Given the description of an element on the screen output the (x, y) to click on. 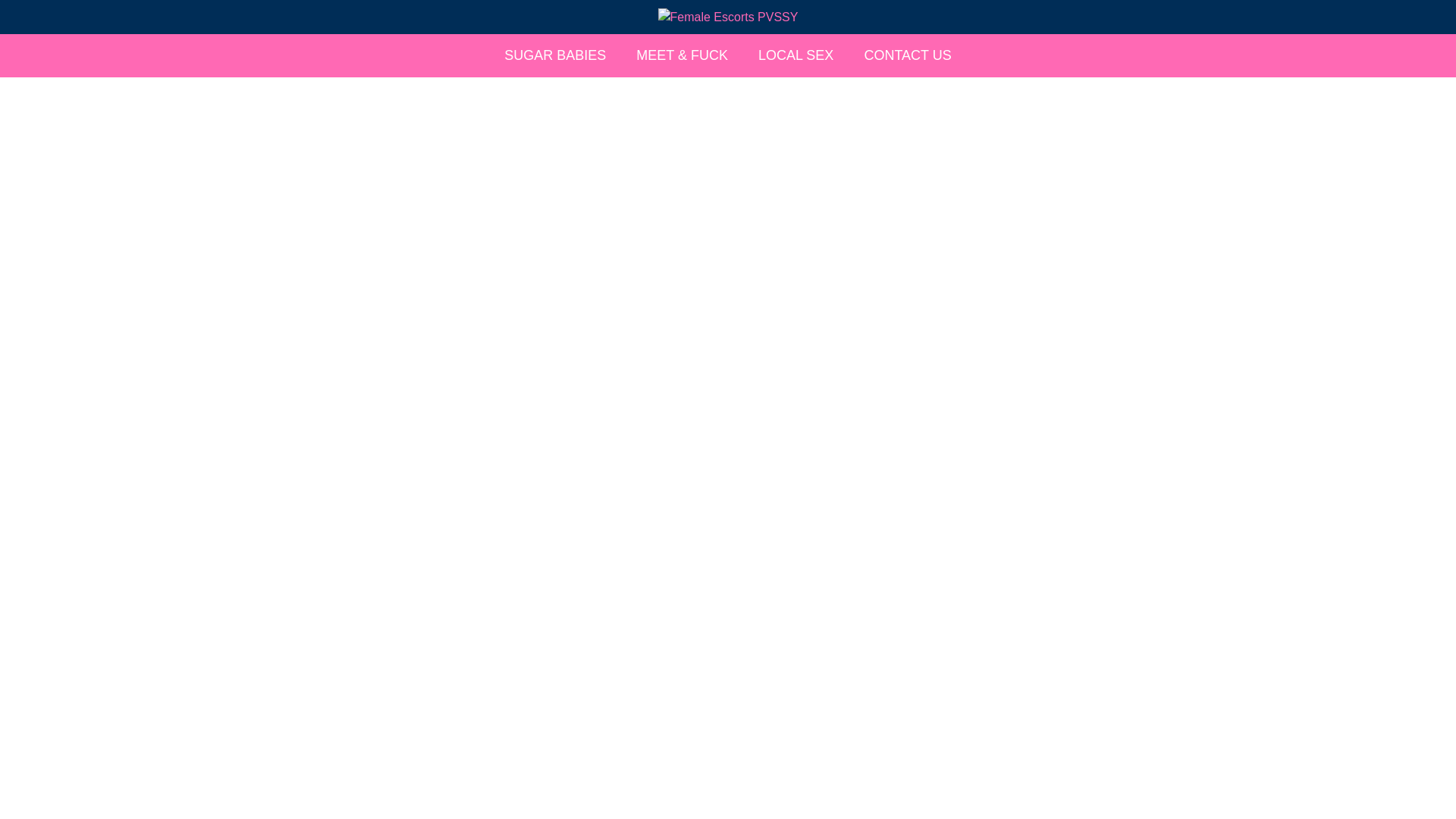
SIGN UP (1120, 51)
Female Escorts PVSSY (727, 17)
